Given the description of an element on the screen output the (x, y) to click on. 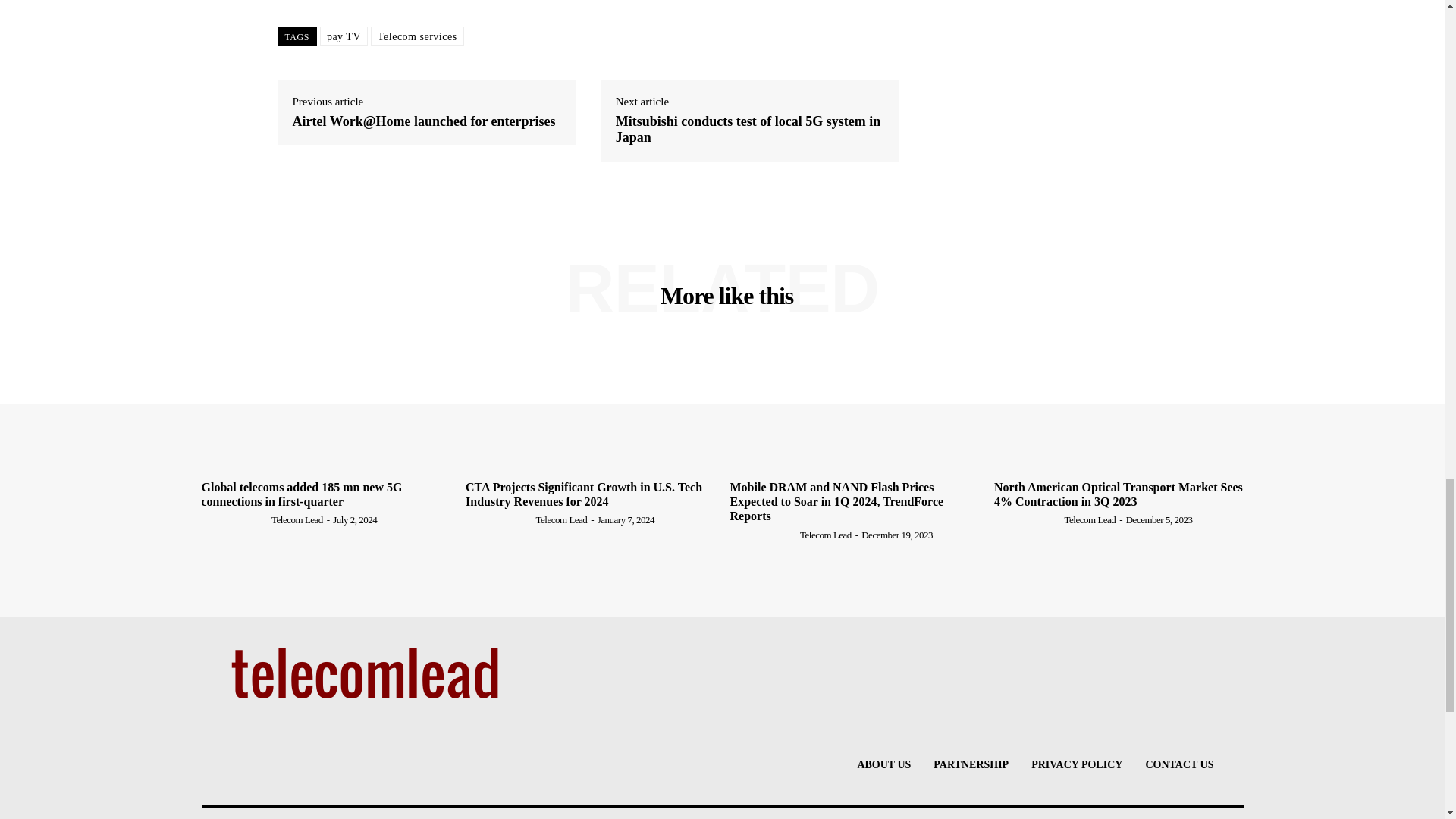
pay TV (344, 35)
Telecom services (417, 35)
Mitsubishi conducts test of local 5G system in Japan (749, 129)
